Given the description of an element on the screen output the (x, y) to click on. 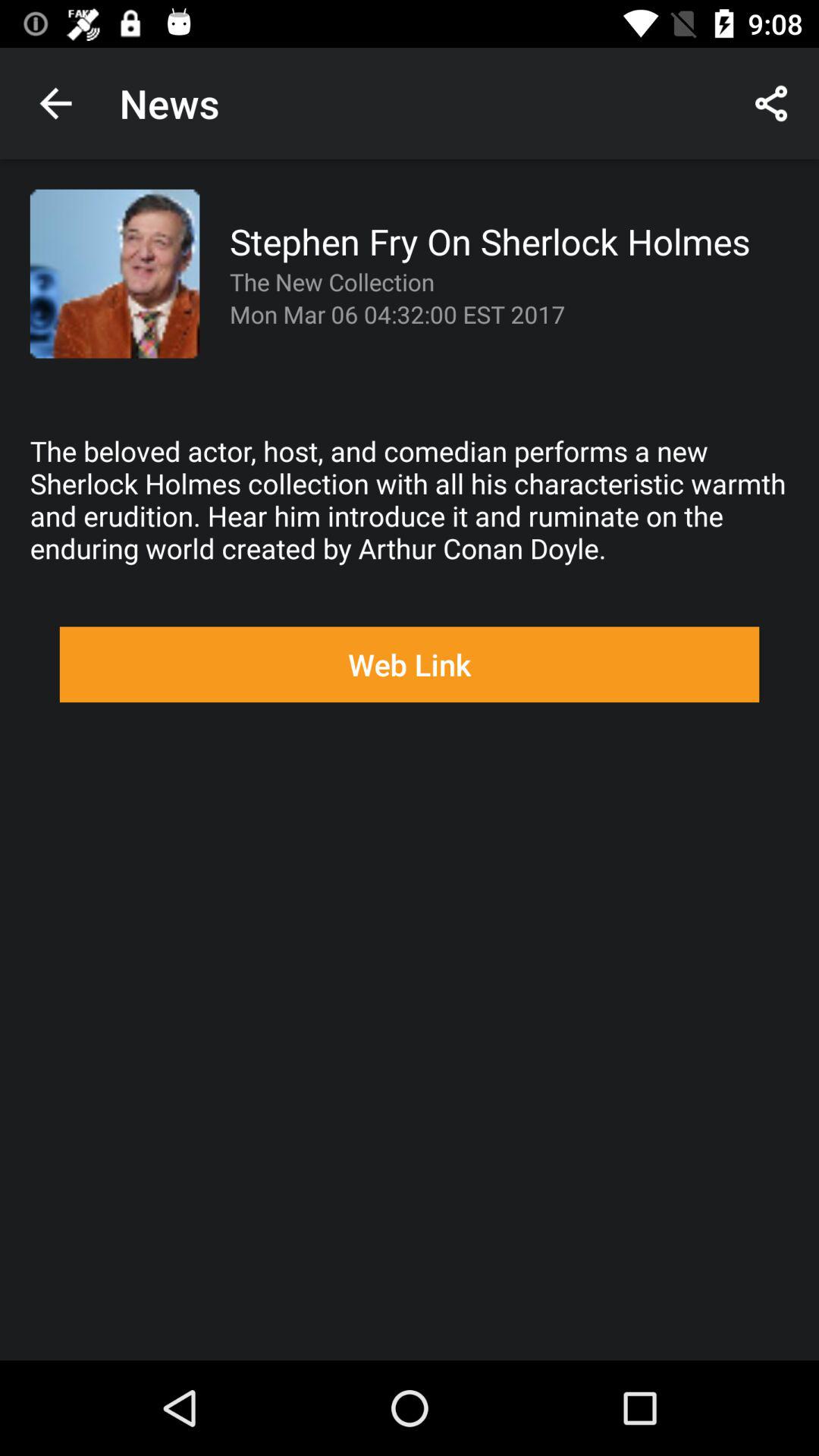
turn off item at the top right corner (771, 103)
